Given the description of an element on the screen output the (x, y) to click on. 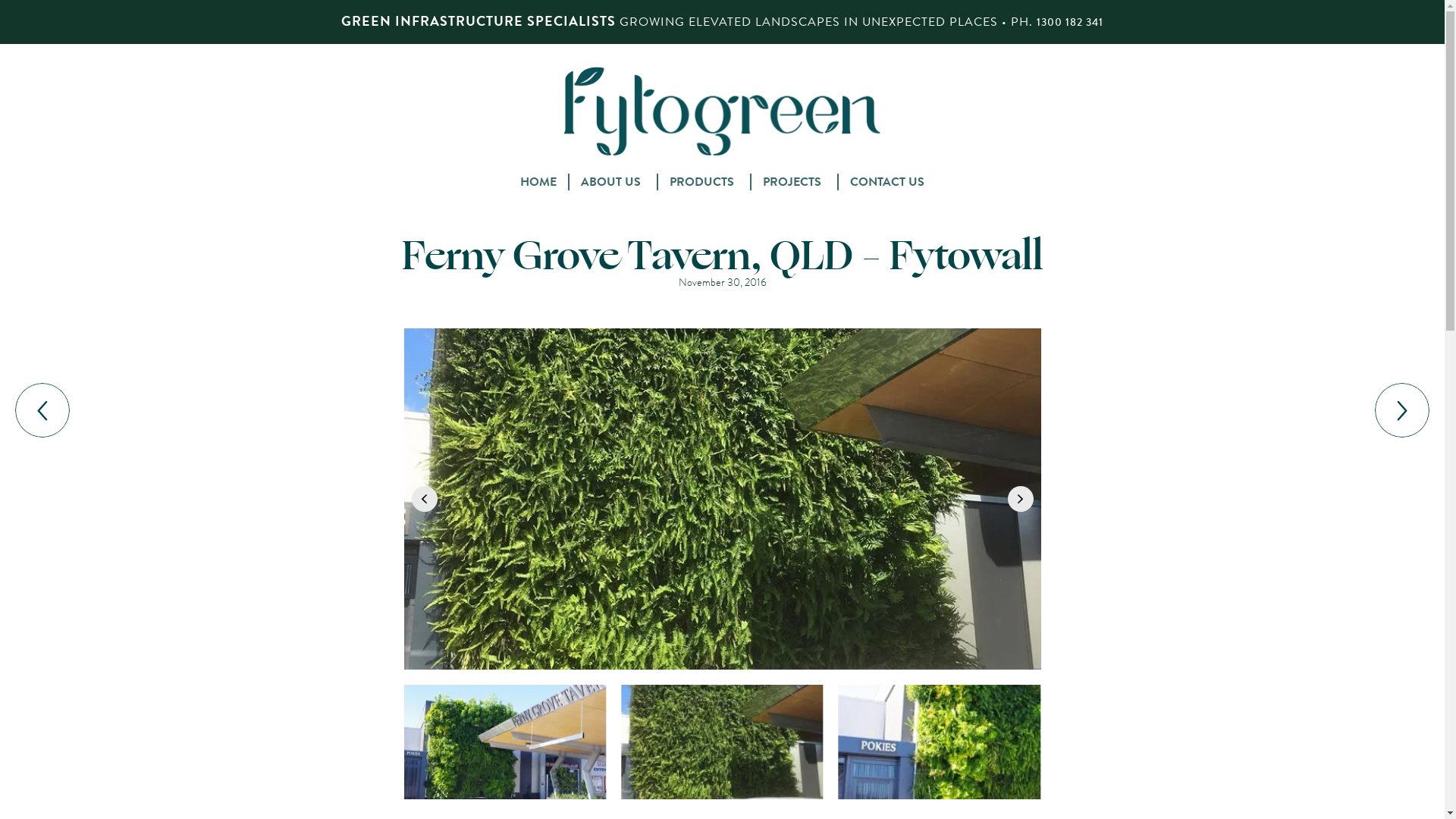
ABOUT US Element type: text (613, 180)
HOME Element type: text (538, 180)
CONTACT US Element type: text (886, 180)
Fytogreen Element type: hover (721, 110)
PRODUCTS Element type: text (704, 180)
1300 182 341 Element type: text (1069, 22)
PROJECTS Element type: text (794, 180)
Skip to content Element type: text (721, 171)
